Given the description of an element on the screen output the (x, y) to click on. 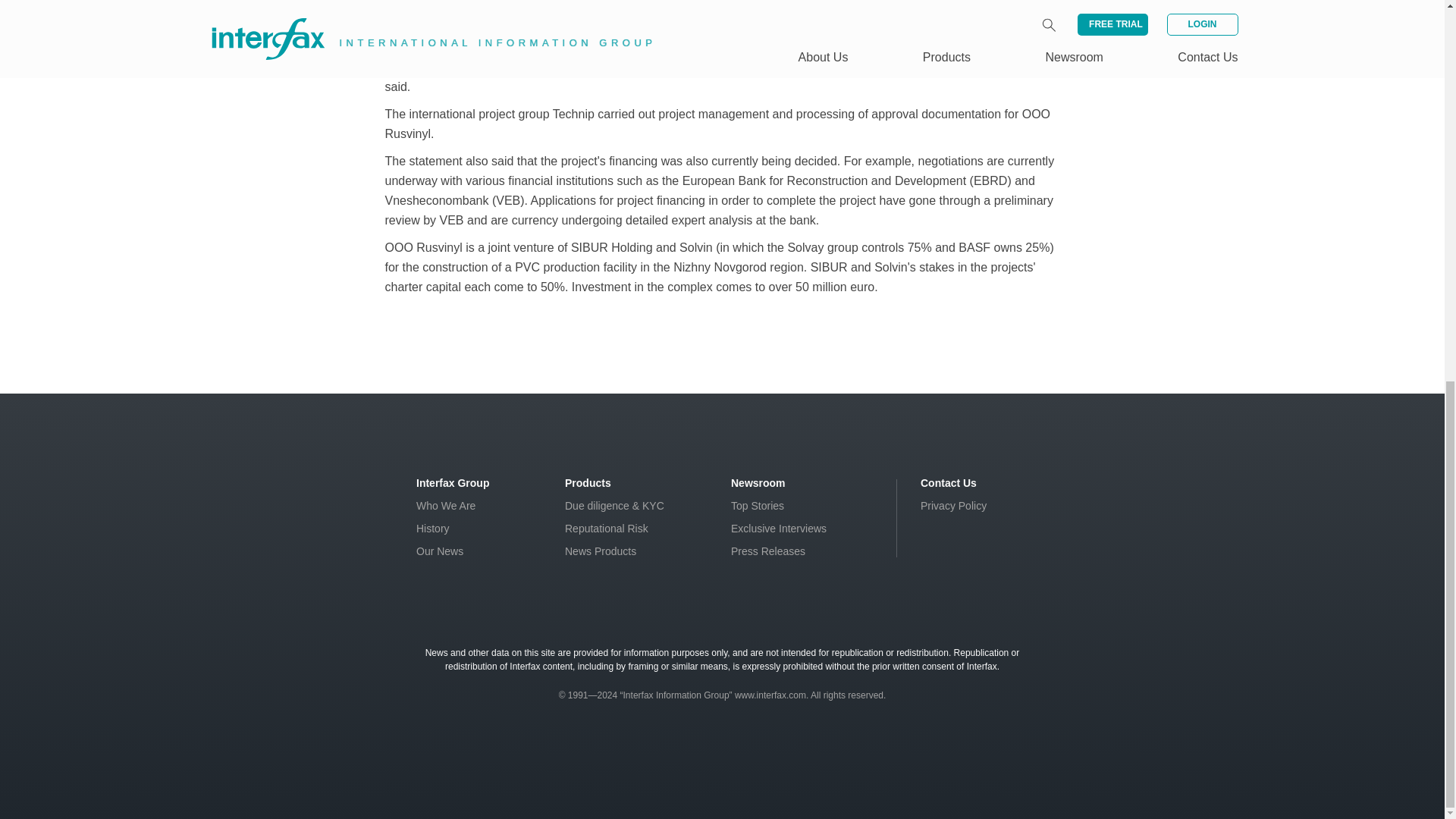
Our News (439, 551)
Who We Are (446, 505)
History (432, 528)
Interfax Group (452, 482)
